Given the description of an element on the screen output the (x, y) to click on. 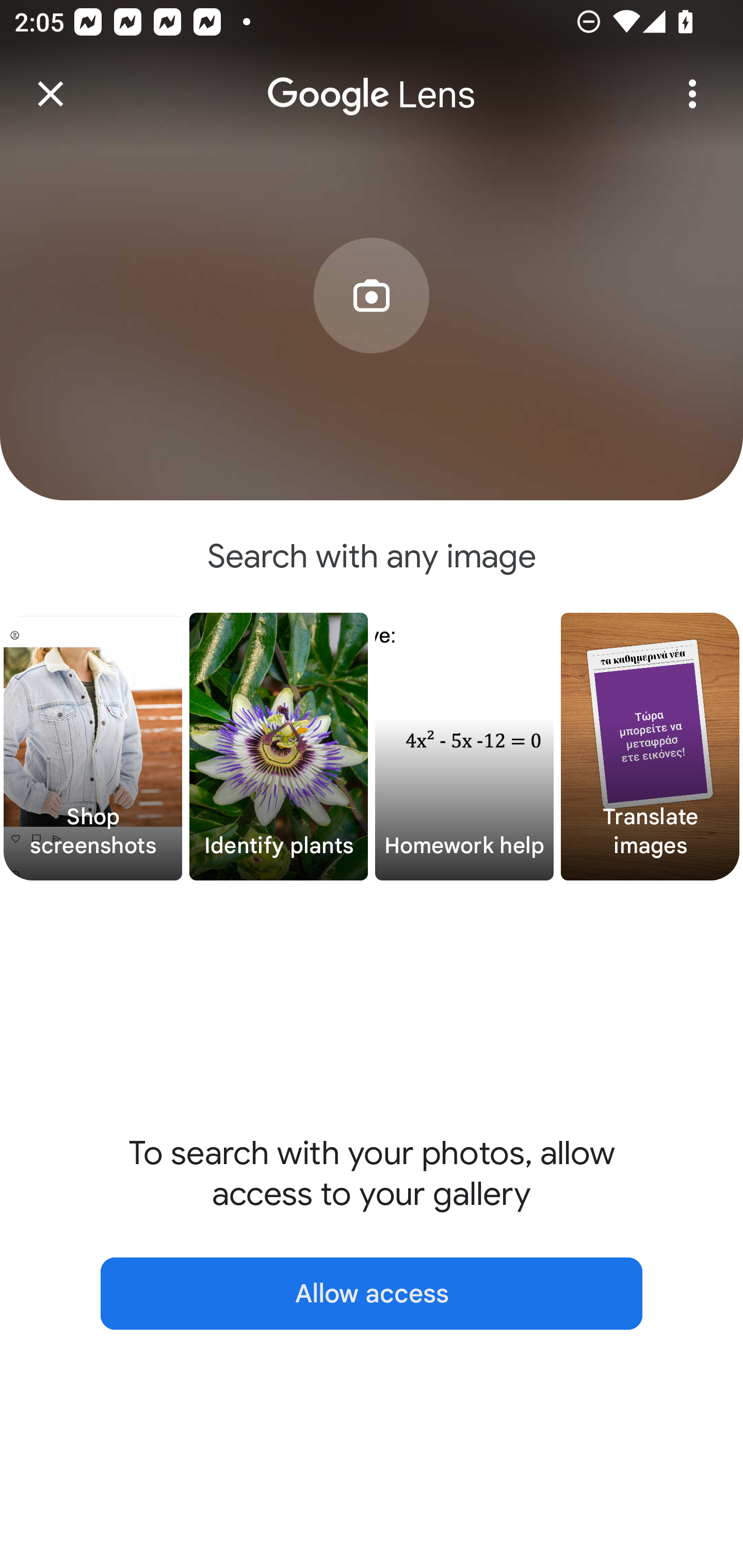
Google Lens Lens (371, 80)
Close (50, 94)
More options (692, 94)
Search with your camera (371, 326)
Shop screenshots (92, 747)
Identify plants (278, 747)
Homework help (464, 747)
Translate images (649, 747)
Allow access (371, 1293)
